Given the description of an element on the screen output the (x, y) to click on. 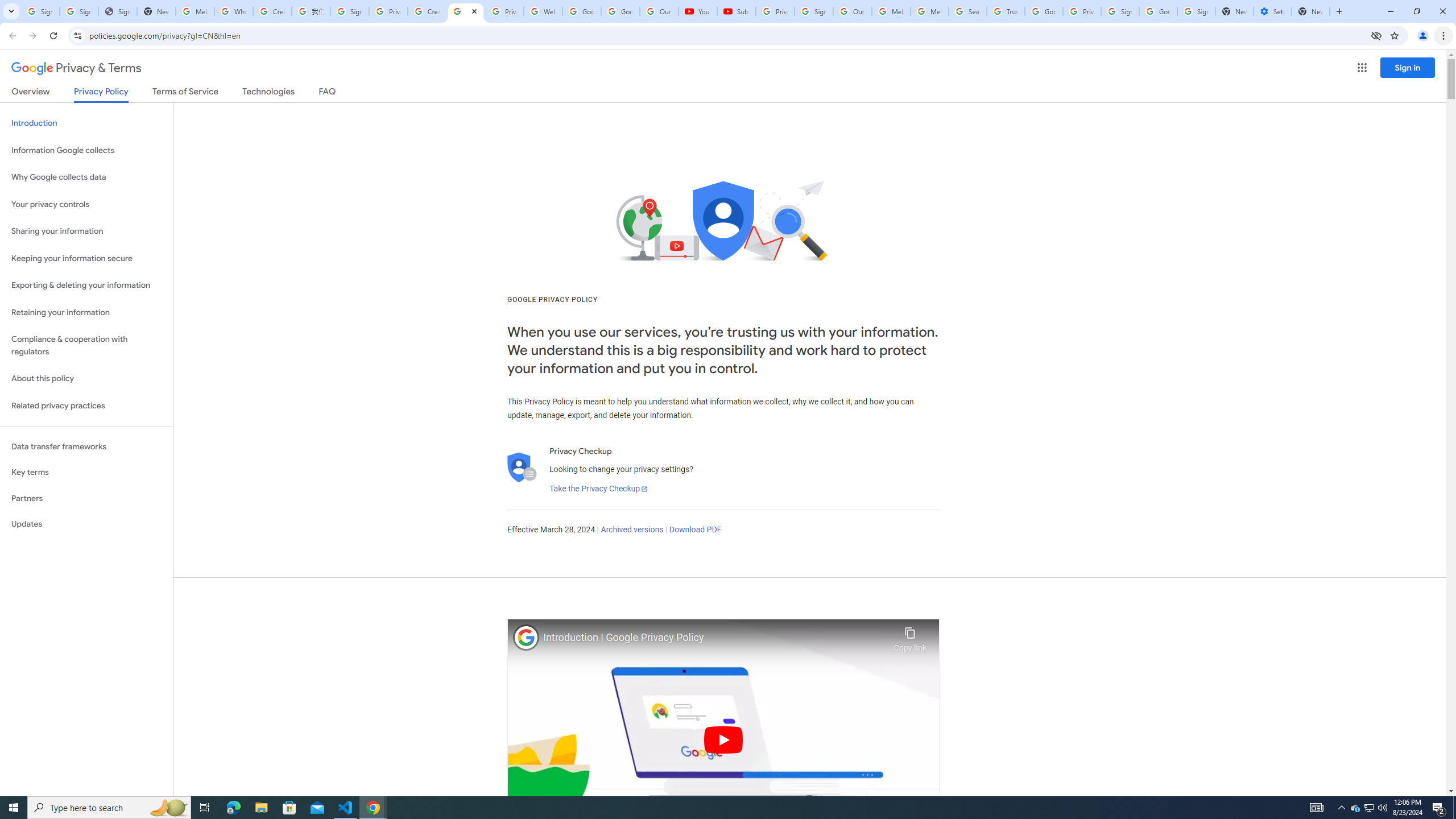
Play (723, 739)
Your privacy controls (86, 204)
Compliance & cooperation with regulators (86, 345)
